Given the description of an element on the screen output the (x, y) to click on. 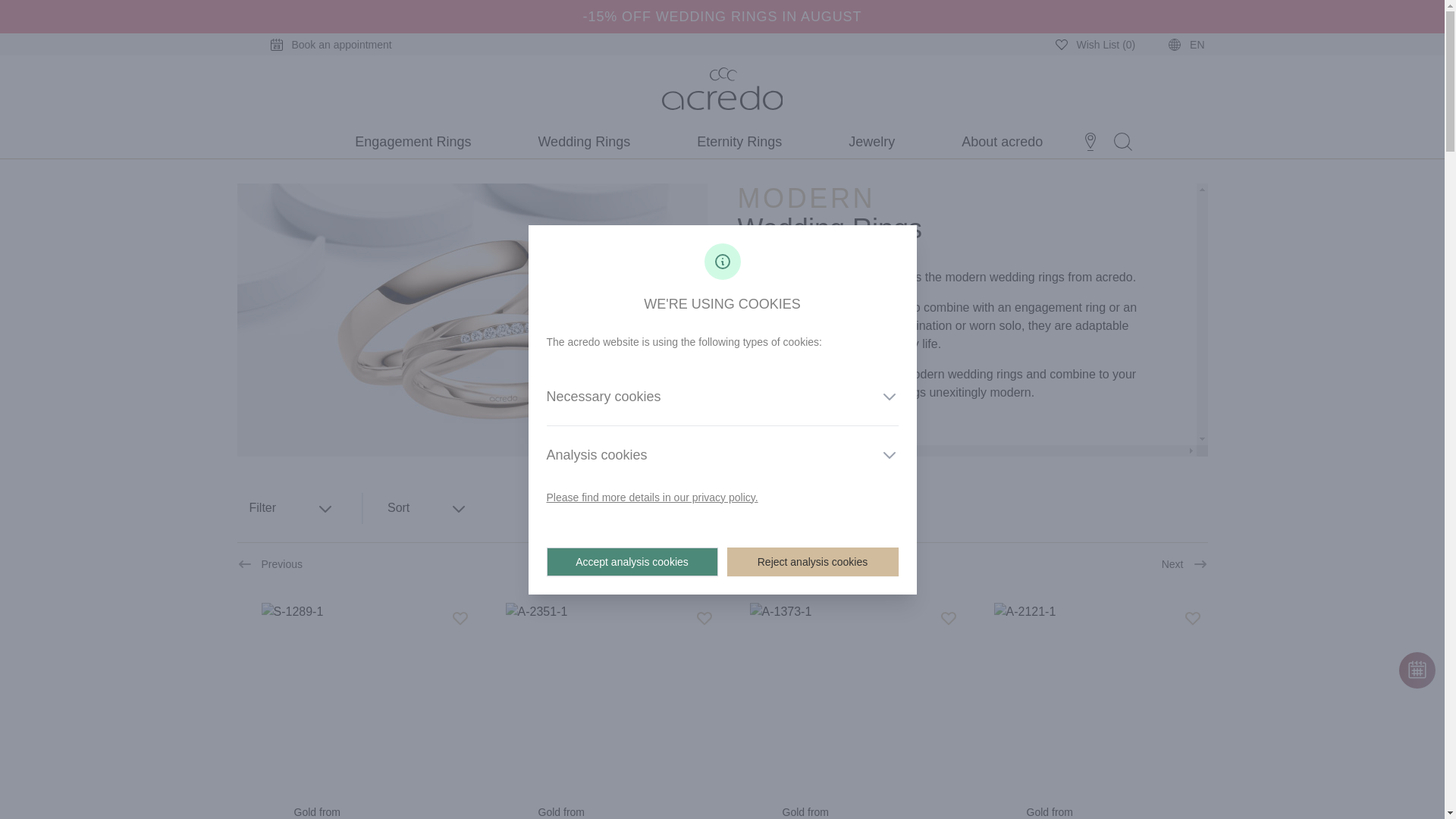
A-2121-1 (1087, 697)
S-1289-1 (354, 697)
A-1373-1 (844, 697)
Book an appointment (315, 43)
EN (1171, 43)
A-2351-1 (599, 697)
